Given the description of an element on the screen output the (x, y) to click on. 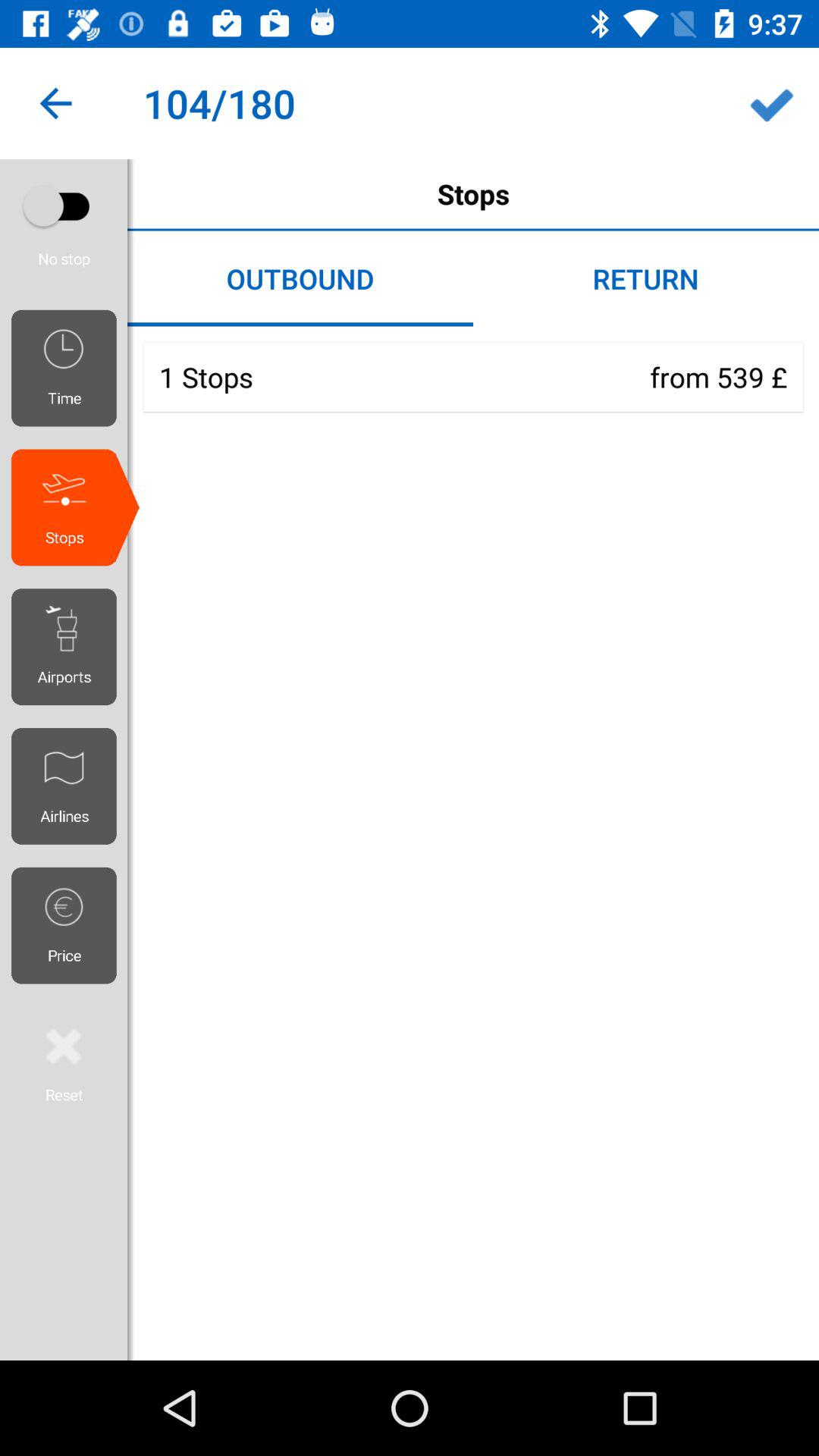
launch time icon (69, 367)
